Given the description of an element on the screen output the (x, y) to click on. 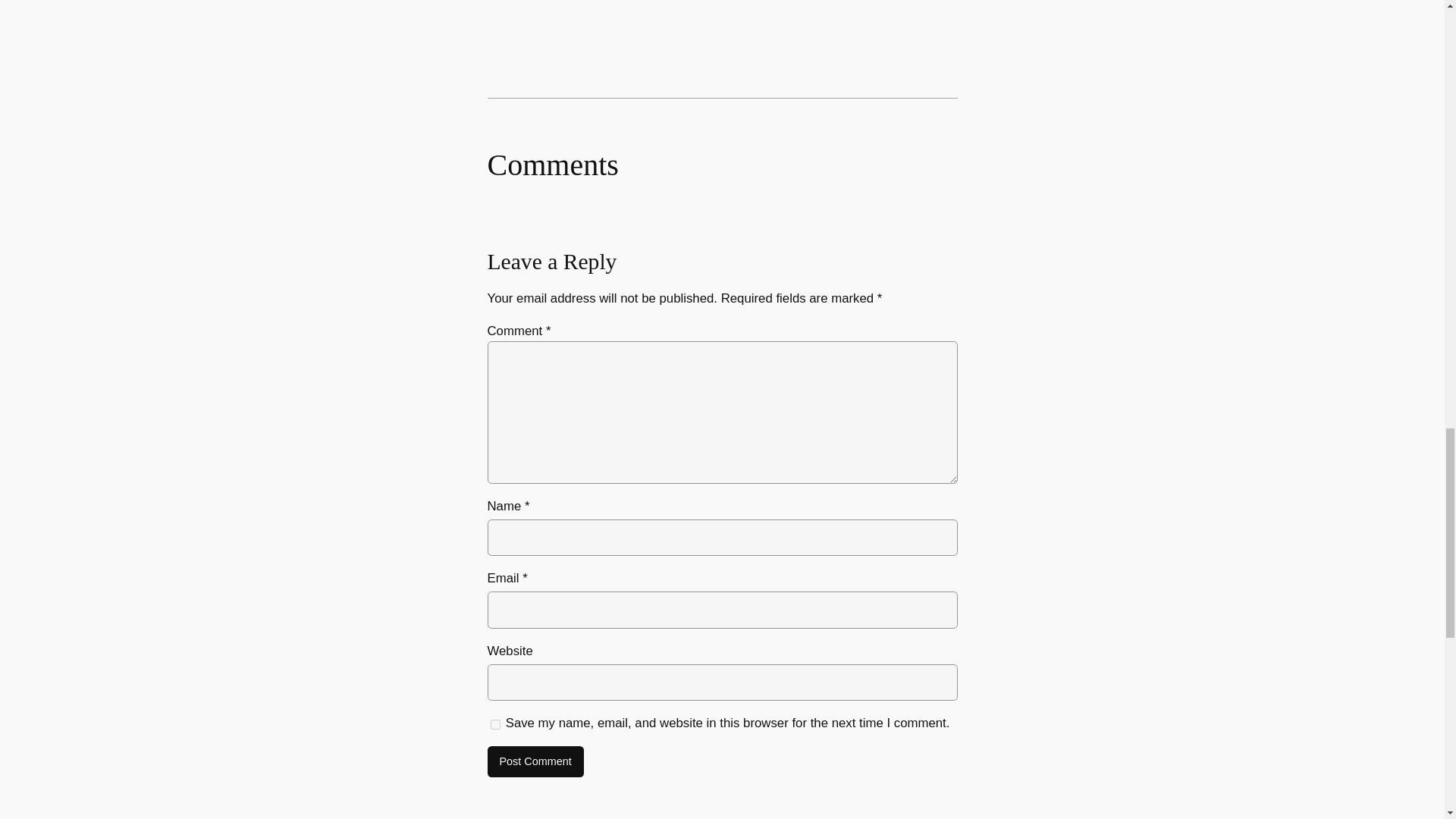
Post Comment (534, 762)
